Given the description of an element on the screen output the (x, y) to click on. 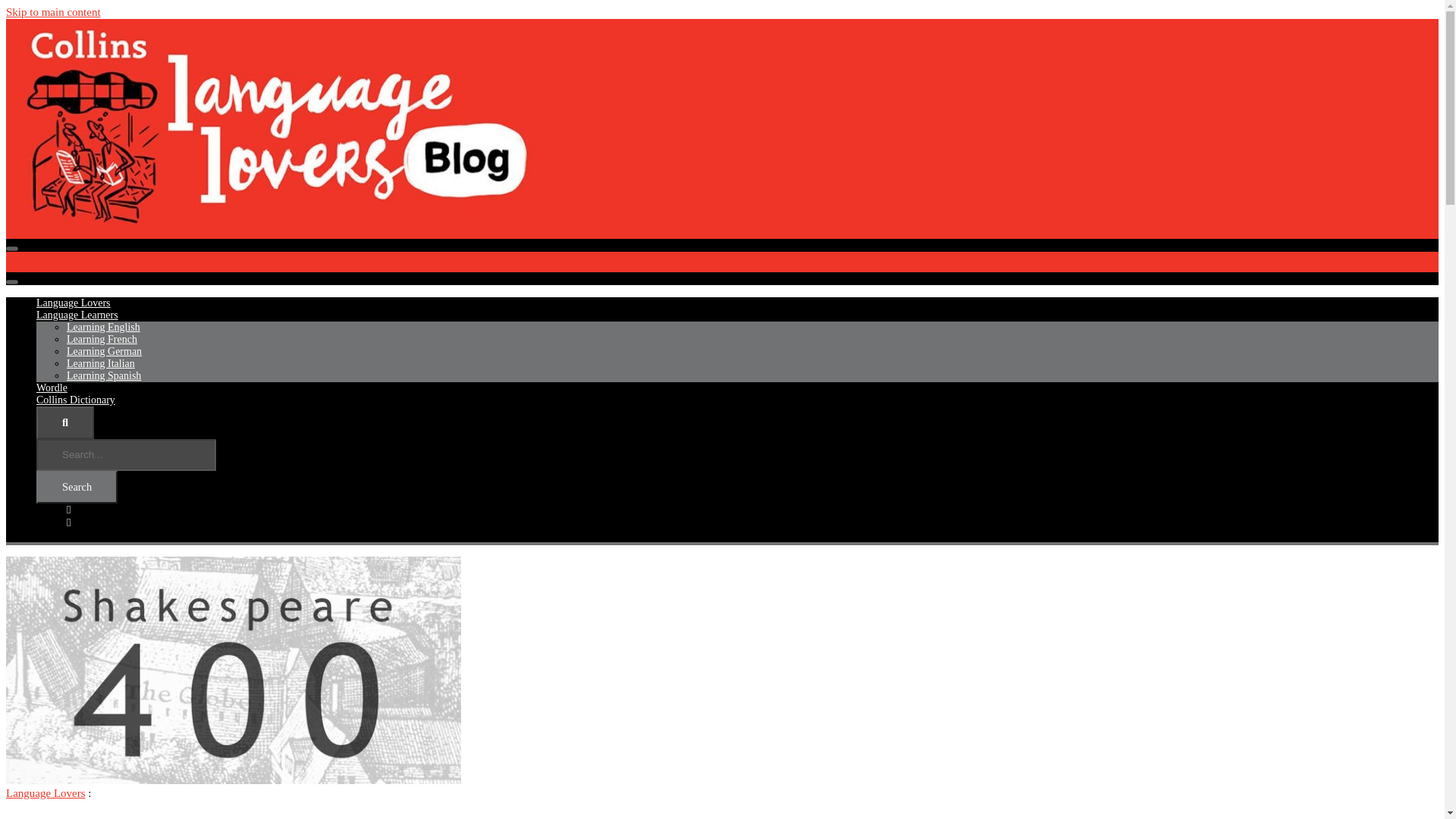
Learning German (103, 351)
Learning French (101, 338)
Language Learners (76, 315)
Learning English (102, 326)
Language Lovers (73, 302)
Skip to main content (52, 11)
Search (76, 486)
Language Lovers (45, 793)
Collins Dictionary (75, 399)
Wordle (51, 387)
Learning Spanish (103, 375)
Learning Italian (100, 363)
